Given the description of an element on the screen output the (x, y) to click on. 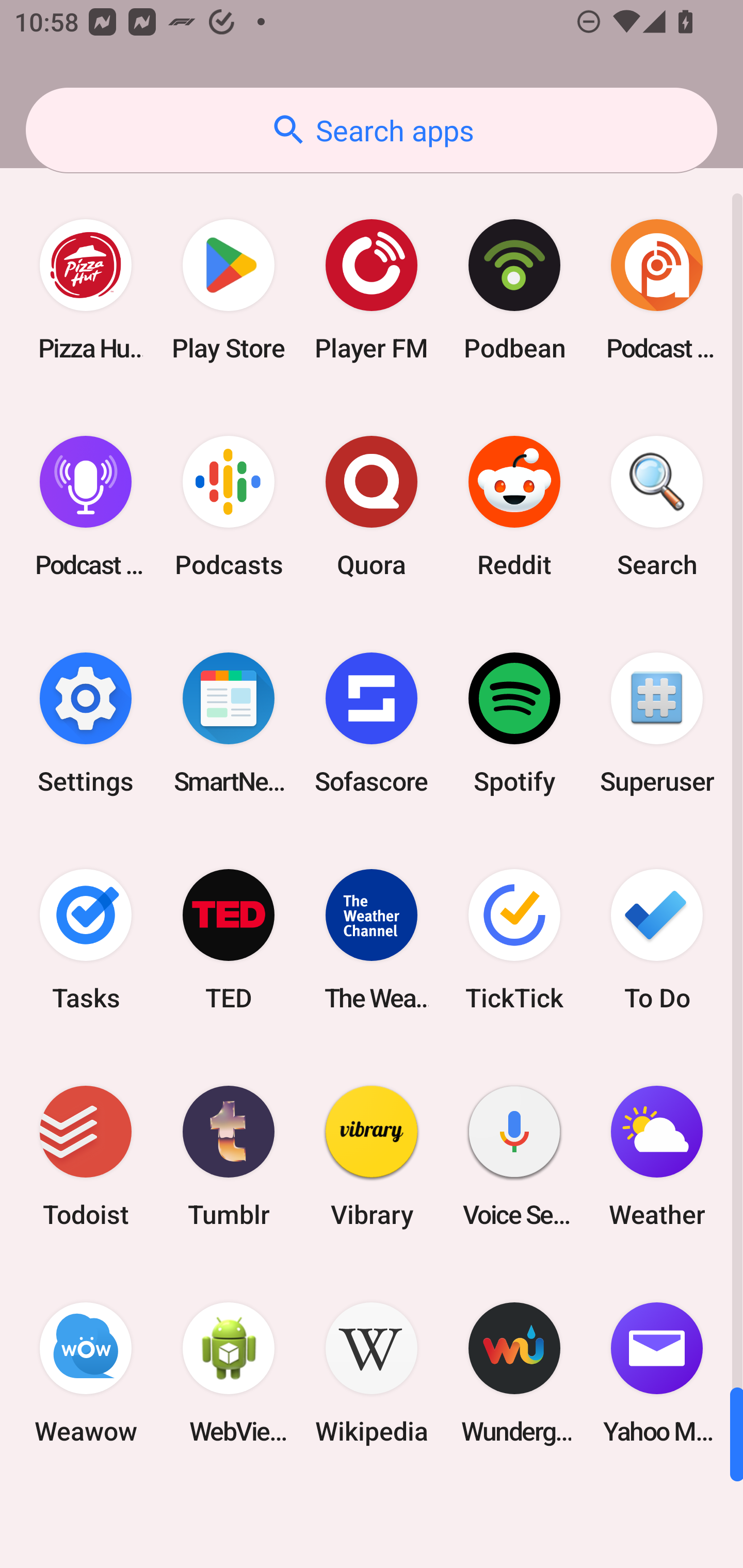
  Search apps (371, 130)
Pizza Hut HK & Macau (85, 289)
Play Store (228, 289)
Player FM (371, 289)
Podbean (514, 289)
Podcast Addict (656, 289)
Podcast Player (85, 506)
Podcasts (228, 506)
Quora (371, 506)
Reddit (514, 506)
Search (656, 506)
Settings (85, 722)
SmartNews (228, 722)
Sofascore (371, 722)
Spotify (514, 722)
Superuser (656, 722)
Tasks (85, 939)
TED (228, 939)
The Weather Channel (371, 939)
TickTick (514, 939)
To Do (656, 939)
Todoist (85, 1156)
Tumblr (228, 1156)
Vibrary (371, 1156)
Voice Search (514, 1156)
Weather (656, 1156)
Weawow (85, 1373)
WebView Browser Tester (228, 1373)
Wikipedia (371, 1373)
Wunderground (514, 1373)
Yahoo Mail (656, 1373)
